Given the description of an element on the screen output the (x, y) to click on. 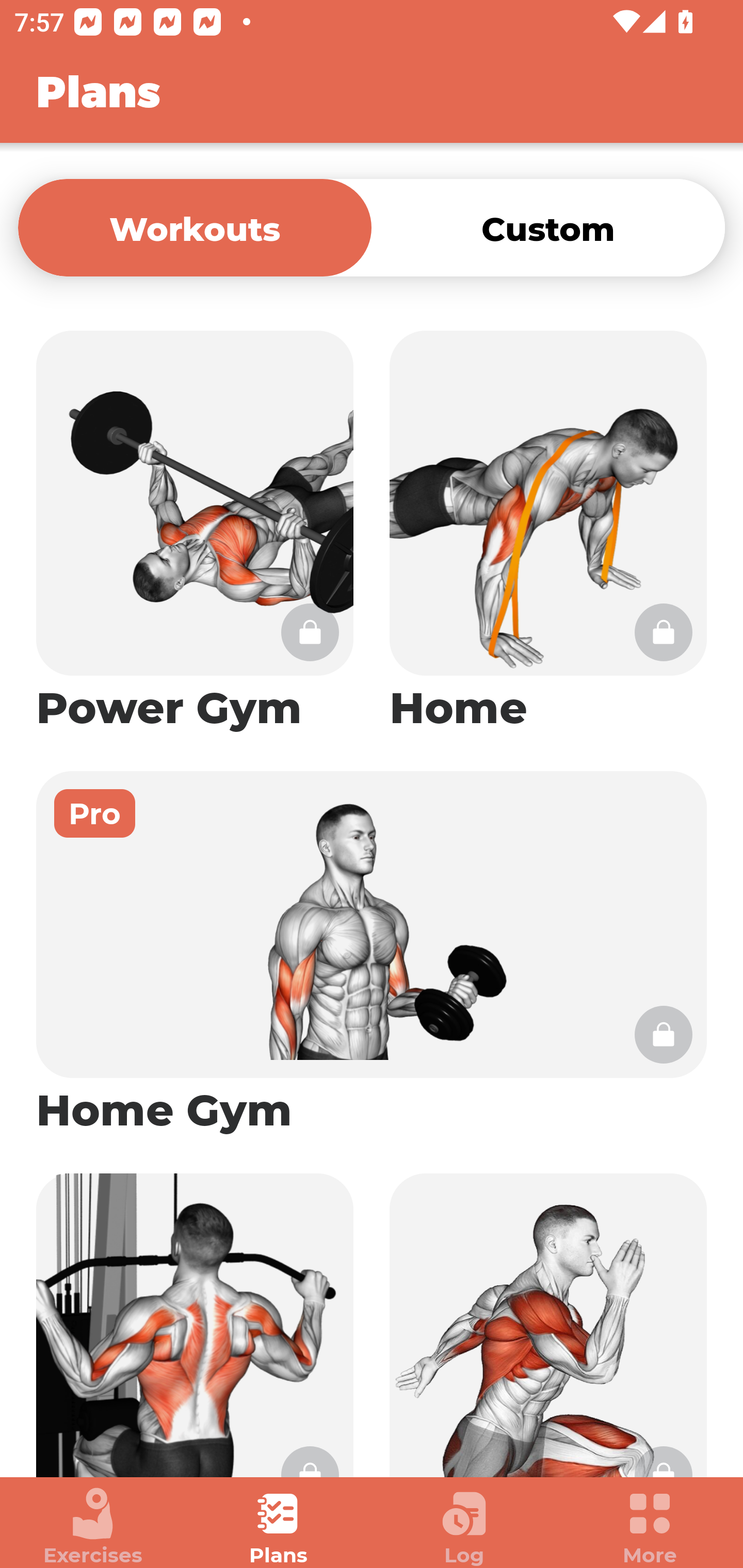
Workouts (194, 226)
Custom (548, 226)
Power Gym (194, 532)
Home (548, 532)
Pro Home Gym (371, 953)
Exercises (92, 1527)
Plans (278, 1527)
Log (464, 1527)
More (650, 1527)
